Given the description of an element on the screen output the (x, y) to click on. 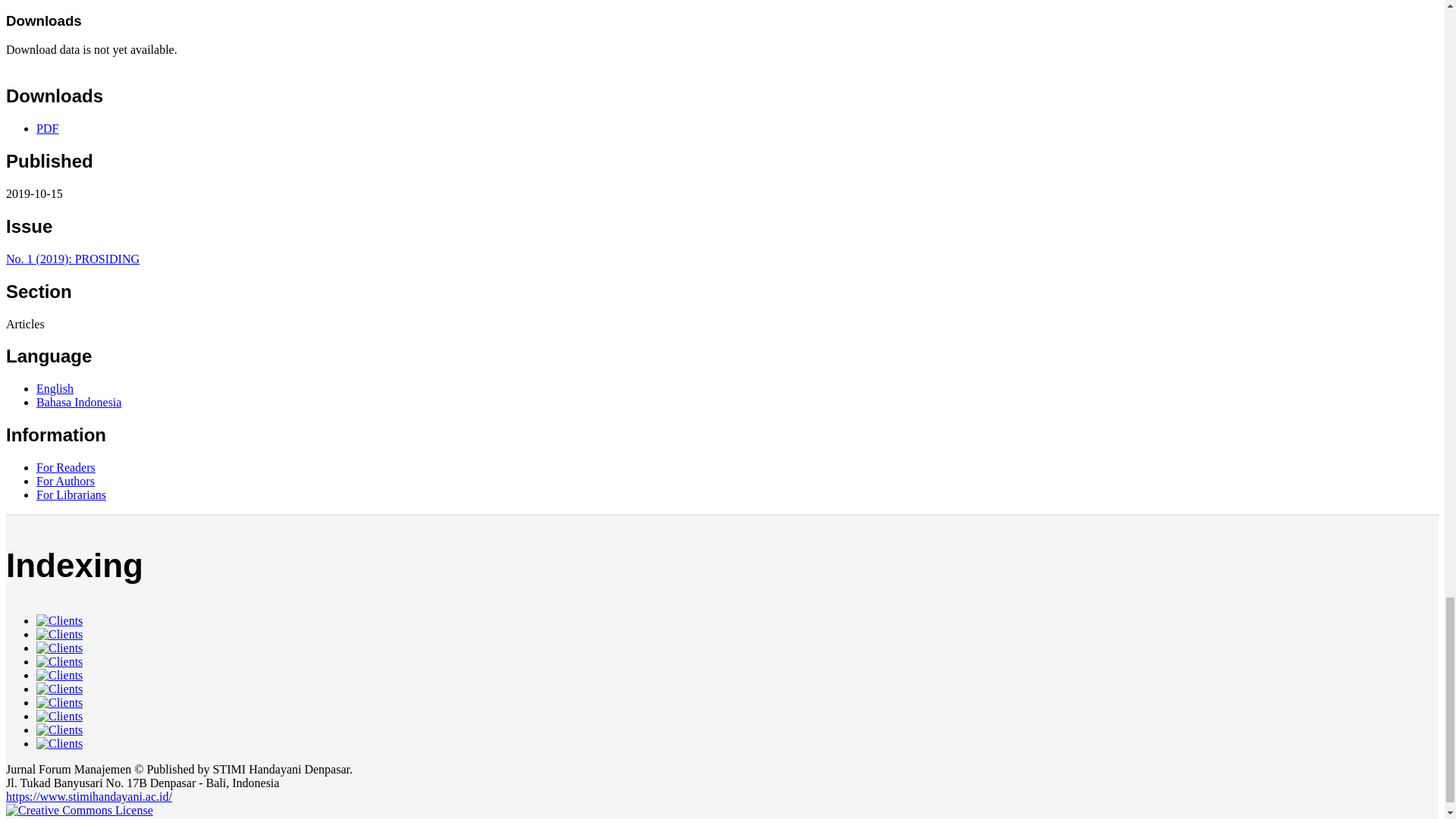
PDF (47, 128)
For Readers (66, 467)
English (55, 388)
For Librarians (71, 494)
Bahasa Indonesia (78, 401)
For Authors (65, 481)
